Given the description of an element on the screen output the (x, y) to click on. 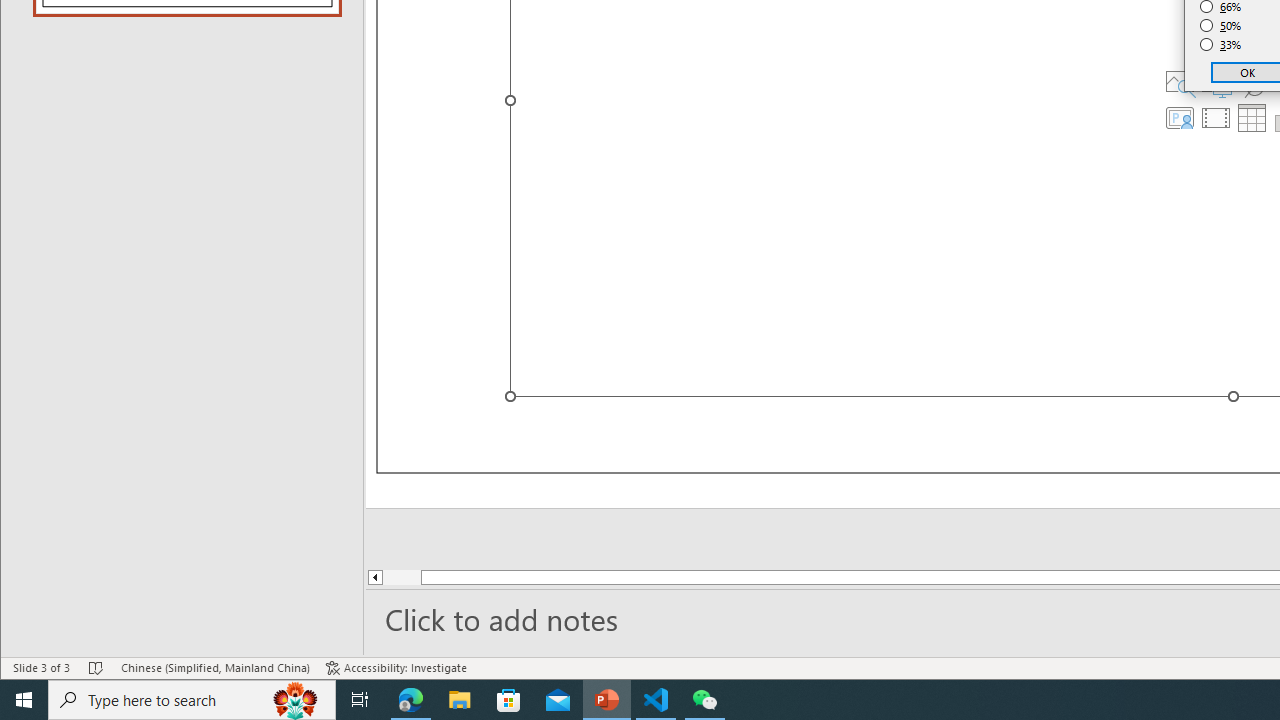
33% (1221, 44)
50% (1221, 25)
